Given the description of an element on the screen output the (x, y) to click on. 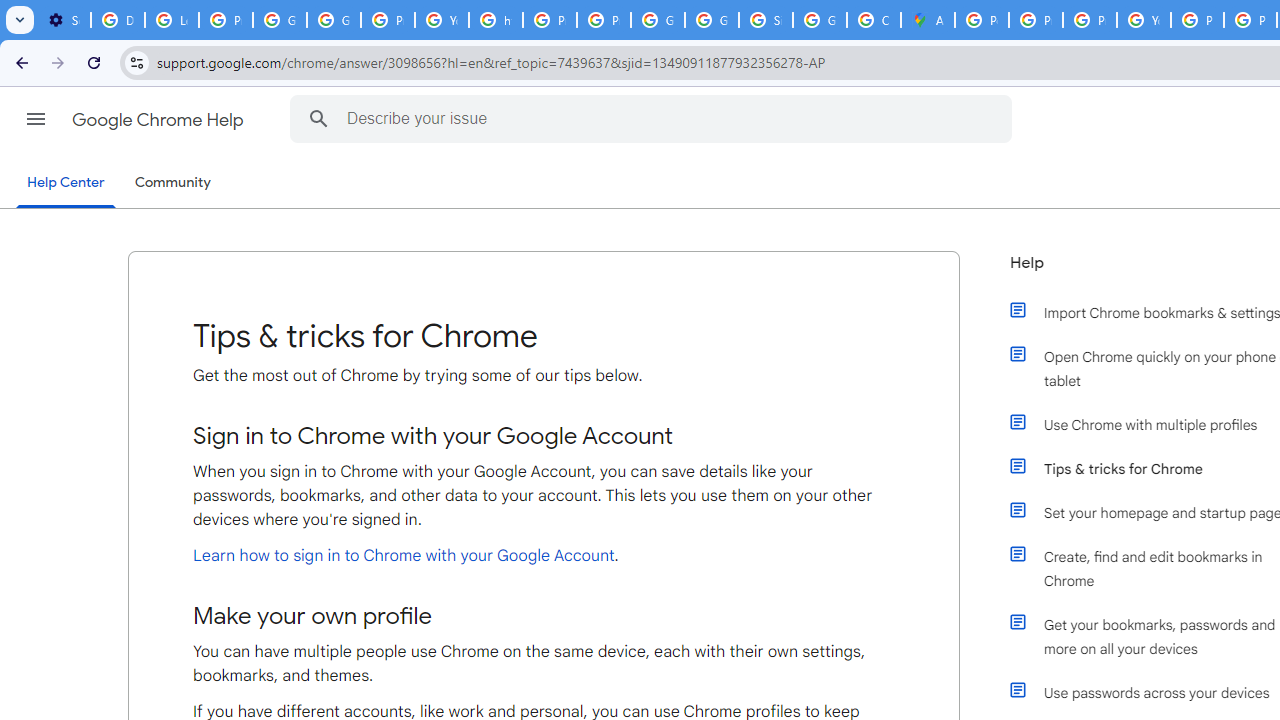
Describe your issue (653, 118)
Privacy Help Center - Policies Help (550, 20)
Google Chrome Help (159, 119)
Create your Google Account (874, 20)
Learn how to sign in to Chrome with your Google Account (403, 555)
Privacy Help Center - Policies Help (1035, 20)
